Given the description of an element on the screen output the (x, y) to click on. 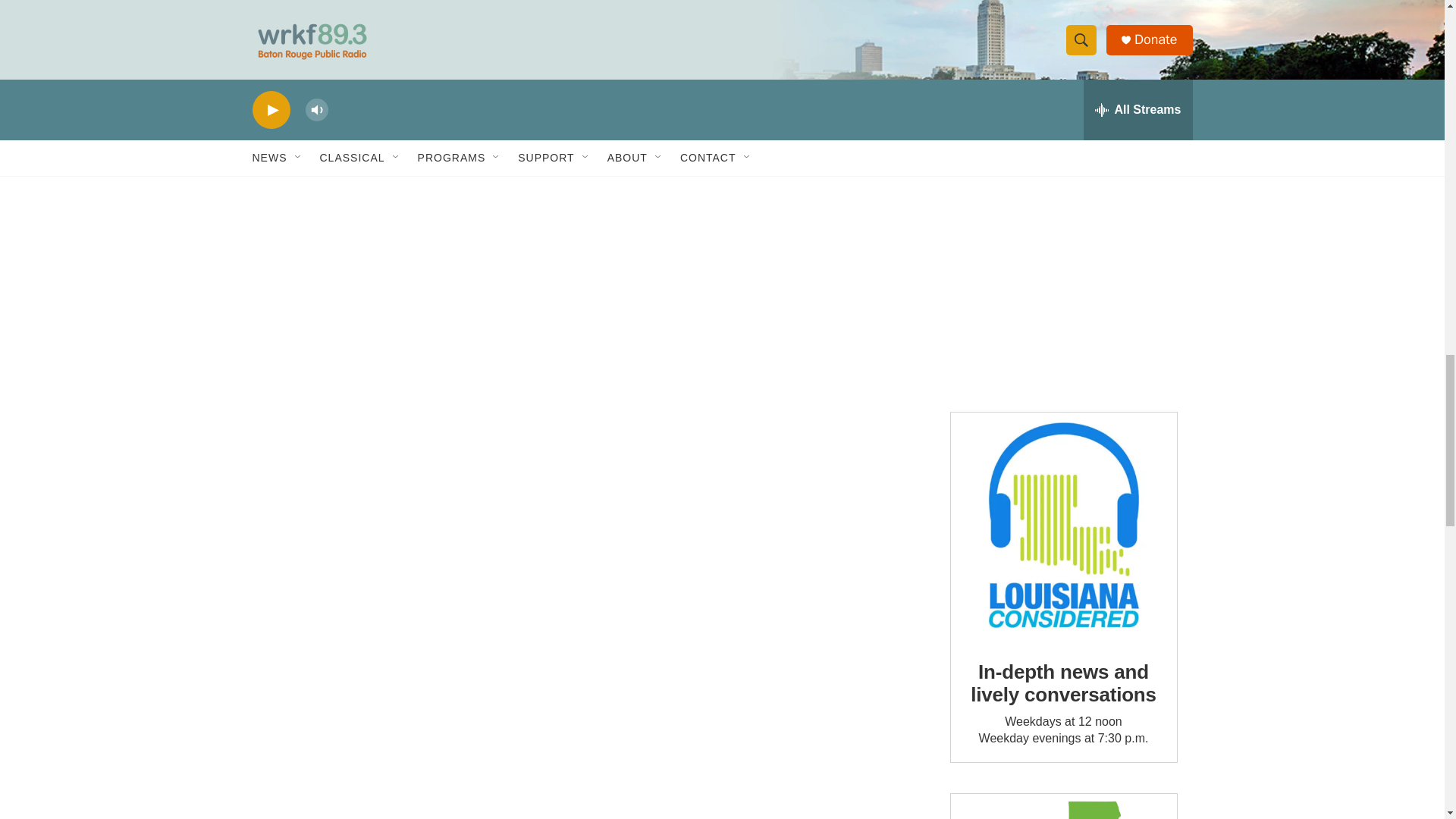
3rd party ad content (1062, 286)
